Given the description of an element on the screen output the (x, y) to click on. 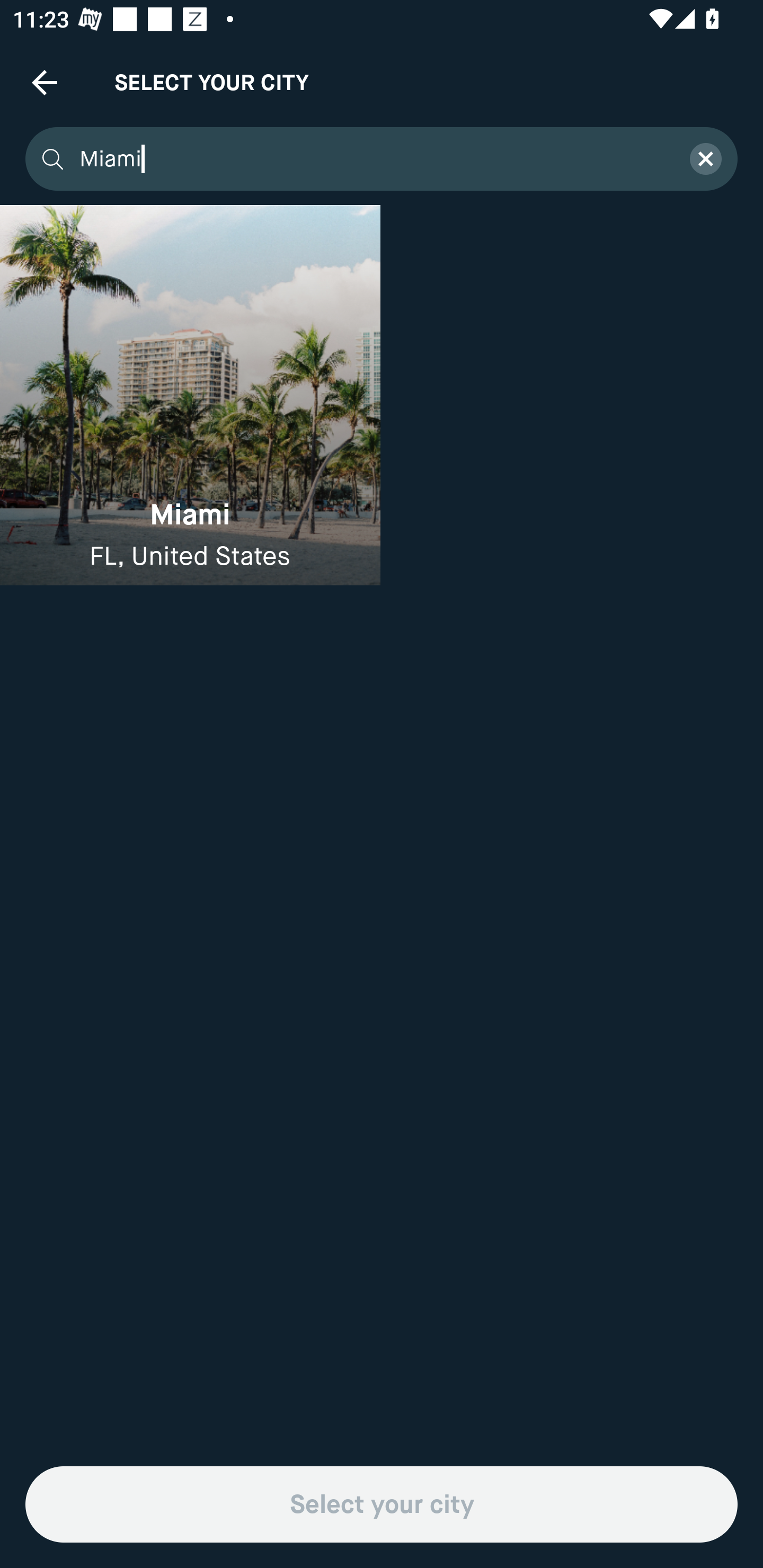
Navigate up (44, 82)
Miami (373, 159)
Miami FL, United States (190, 394)
Select your city (381, 1504)
